Given the description of an element on the screen output the (x, y) to click on. 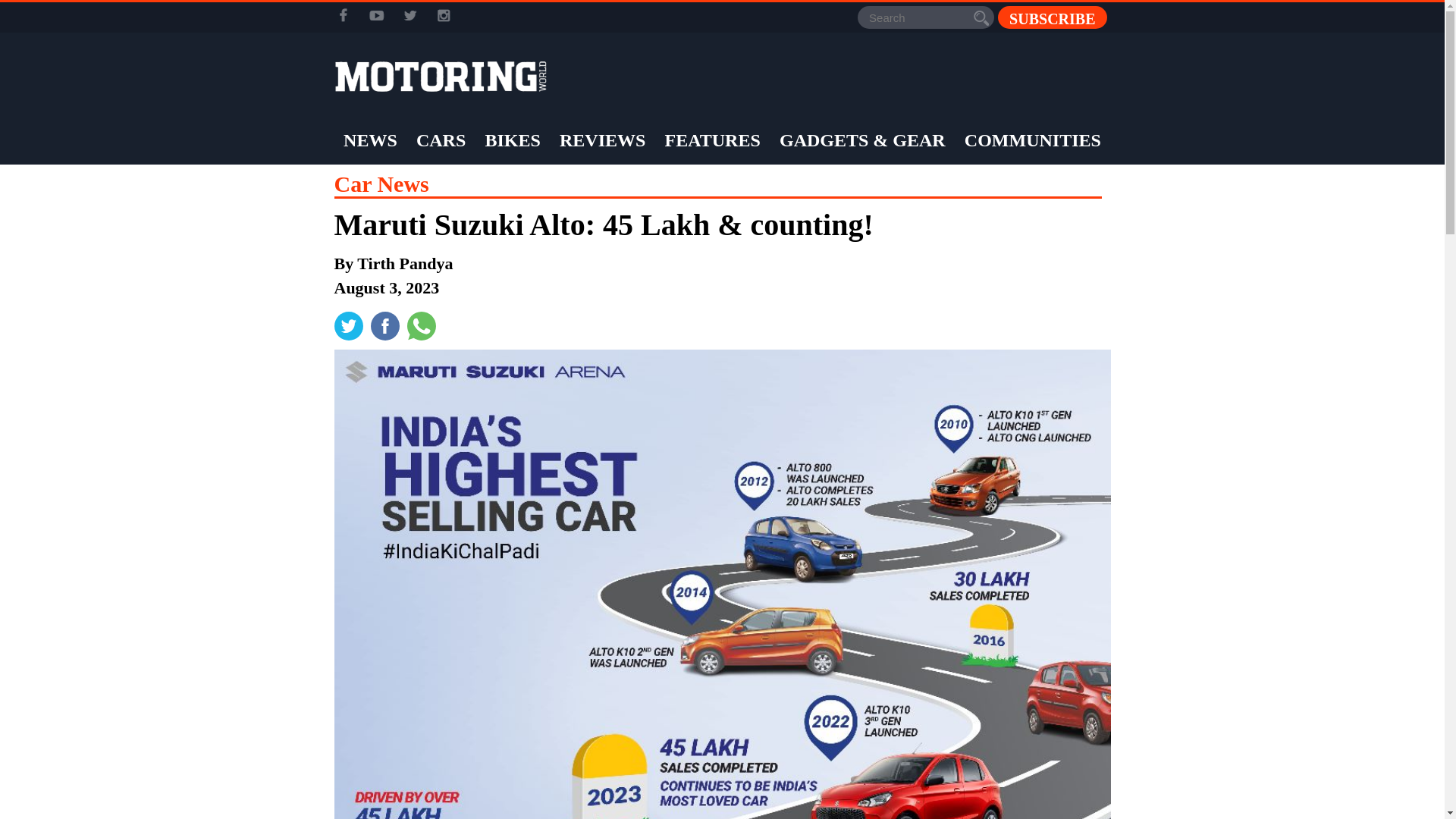
FEATURES (712, 140)
Posts by Tirth Pandya (404, 262)
Tirth Pandya (404, 262)
BIKES (511, 140)
CARS (440, 140)
NEWS (370, 140)
Car News (380, 183)
SUBSCRIBE (1051, 16)
COMMUNITIES (1032, 140)
REVIEWS (602, 140)
